Given the description of an element on the screen output the (x, y) to click on. 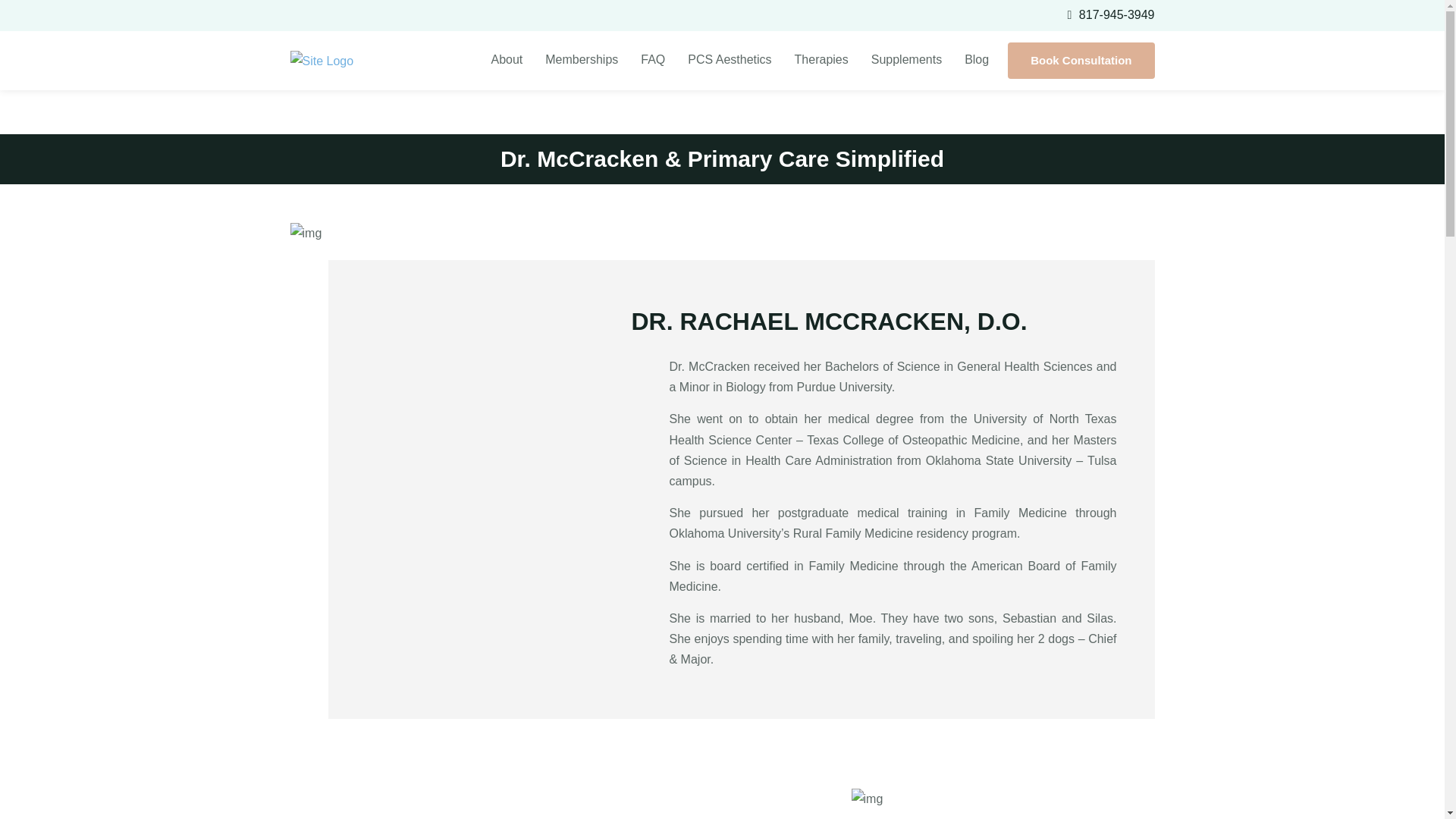
PCS Aesthetics (730, 59)
About (506, 59)
Blog (976, 59)
About (506, 59)
Memberships (581, 59)
817-945-3949 (1116, 14)
Book Consultation (1080, 60)
FAQ (652, 59)
PCS Aesthetics (730, 59)
Memberships (581, 59)
